Given the description of an element on the screen output the (x, y) to click on. 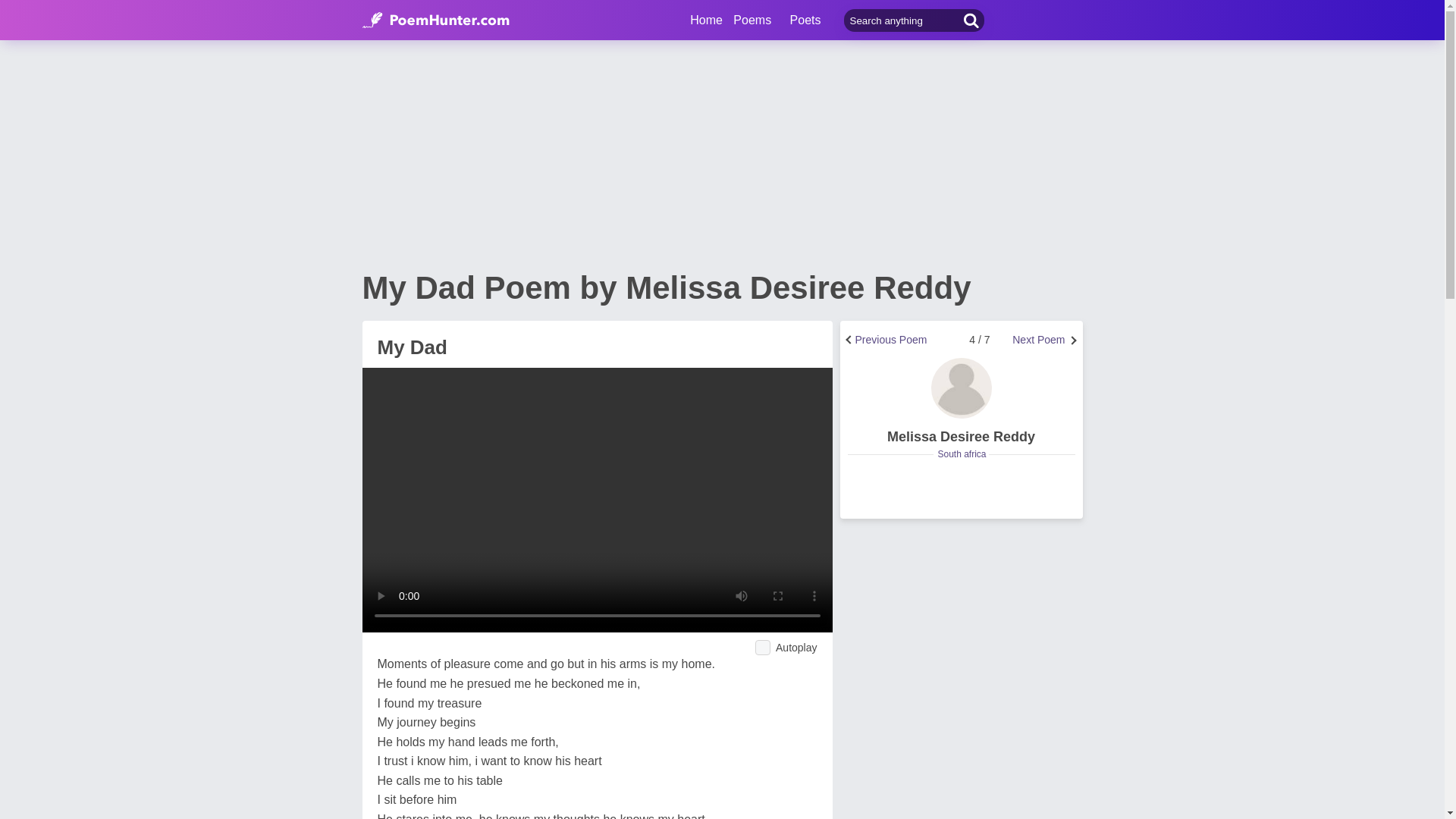
PoemHunter.com: Poems - Poets - Poetry (435, 20)
Home (706, 19)
PoemHunter.com: Poems - Poets - Poetry (706, 19)
